Given the description of an element on the screen output the (x, y) to click on. 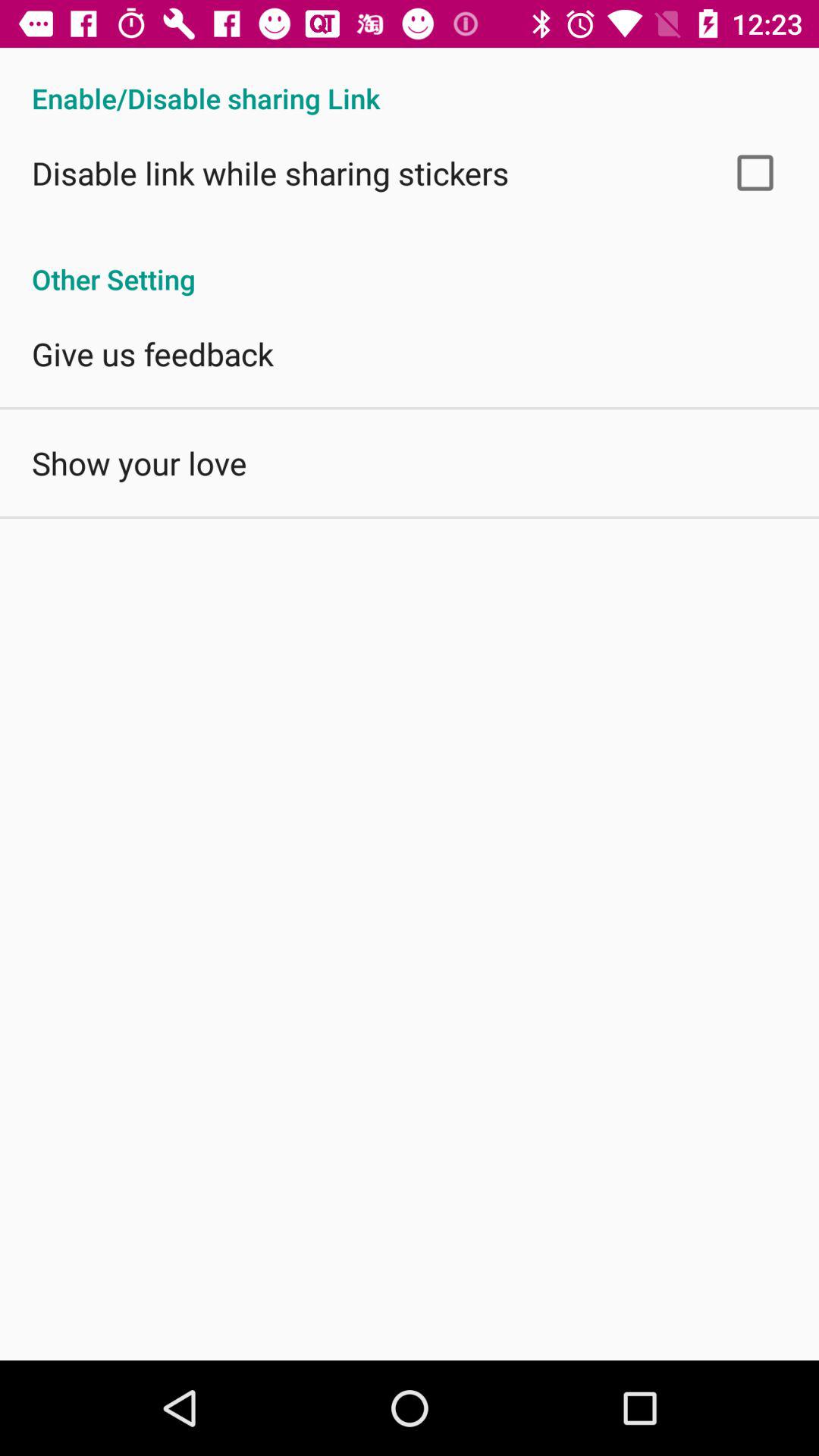
open item next to disable link while item (755, 172)
